Given the description of an element on the screen output the (x, y) to click on. 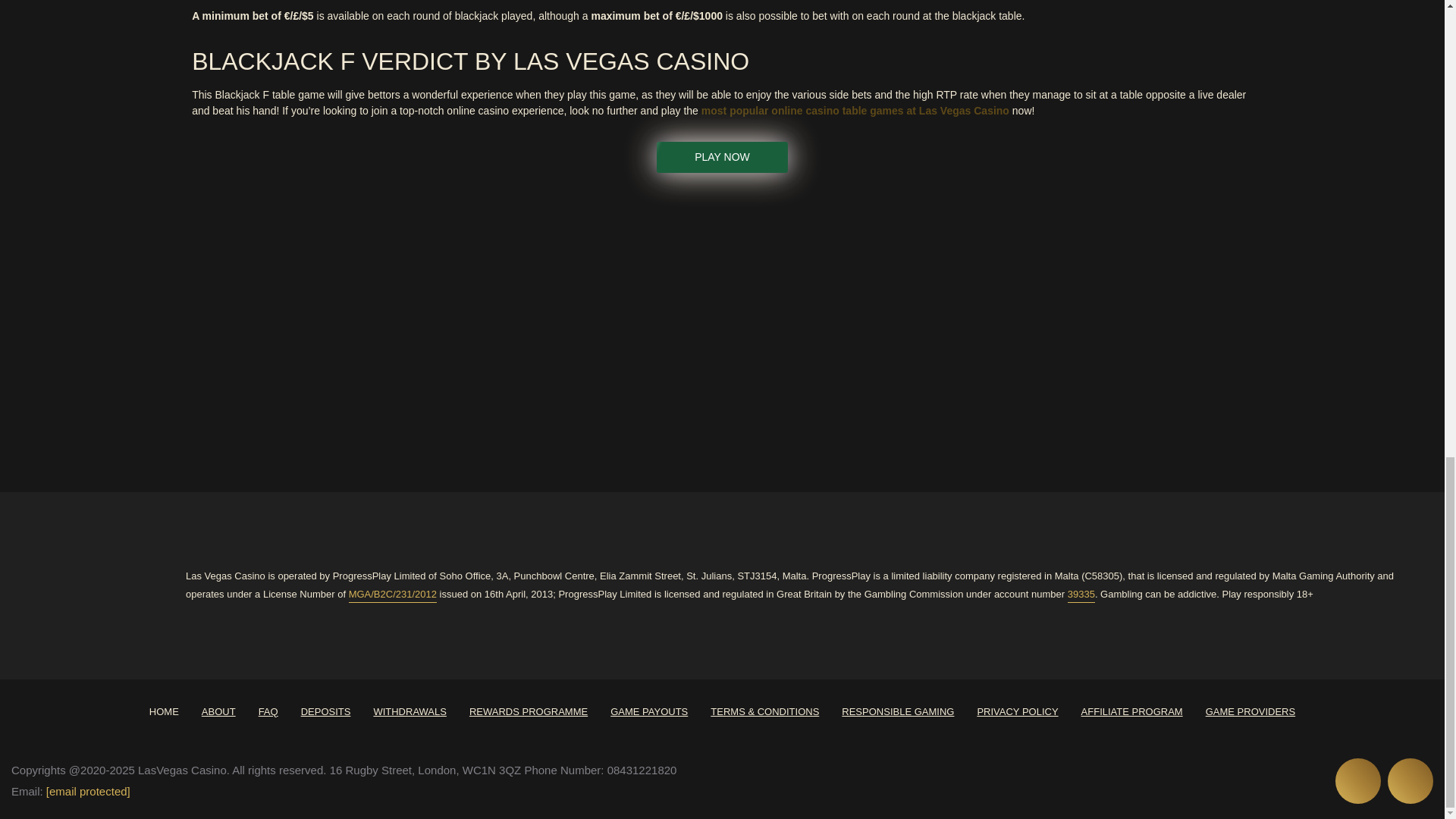
client logos (463, 327)
client logos (205, 327)
client logos (850, 327)
client logos (335, 327)
39335 (1080, 594)
client logos (979, 327)
client logos (77, 327)
client logos (593, 327)
table games (855, 110)
ABOUT (218, 711)
